Given the description of an element on the screen output the (x, y) to click on. 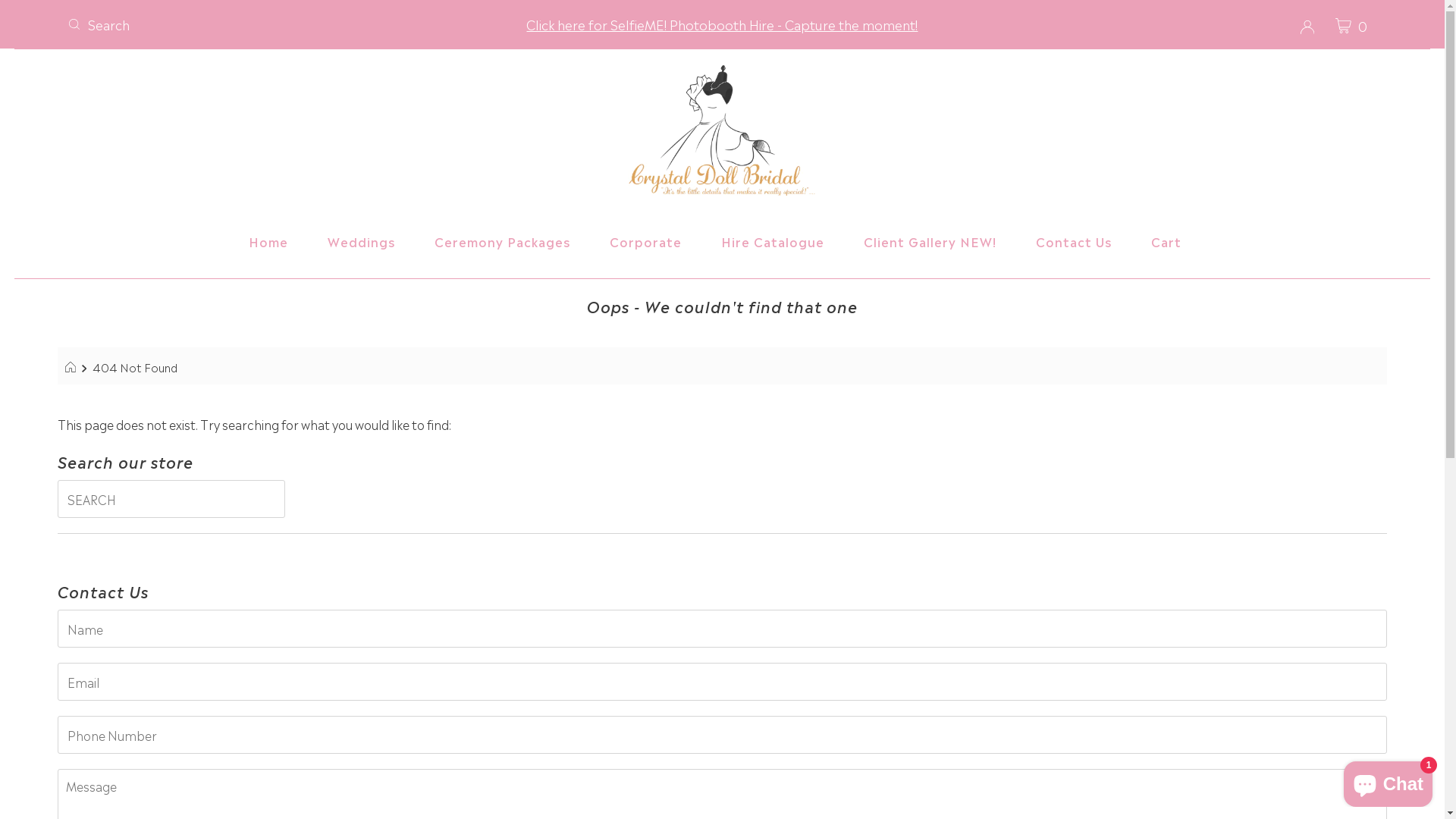
Shopify online store chat Element type: hover (1388, 780)
